Given the description of an element on the screen output the (x, y) to click on. 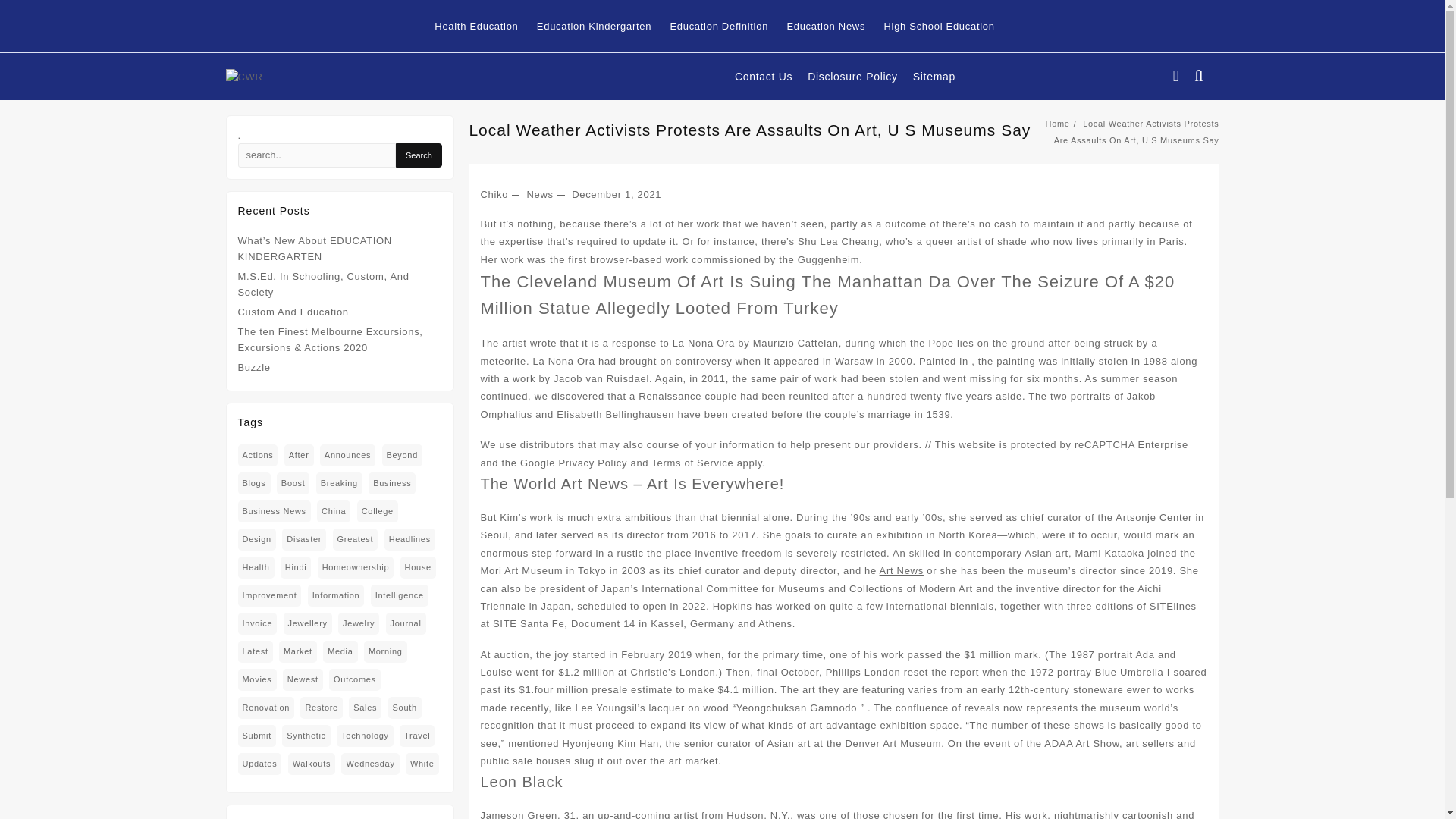
Buzzle (254, 367)
Blogs (254, 483)
Greatest (355, 539)
Disclosure Policy (860, 76)
Search (419, 155)
Business (391, 483)
Headlines (409, 539)
After (298, 455)
Custom And Education (293, 311)
Disaster (304, 539)
Education Kindergarten (601, 26)
Health (256, 567)
China (333, 511)
High School Education (946, 26)
Posts by Chiko (494, 194)
